Given the description of an element on the screen output the (x, y) to click on. 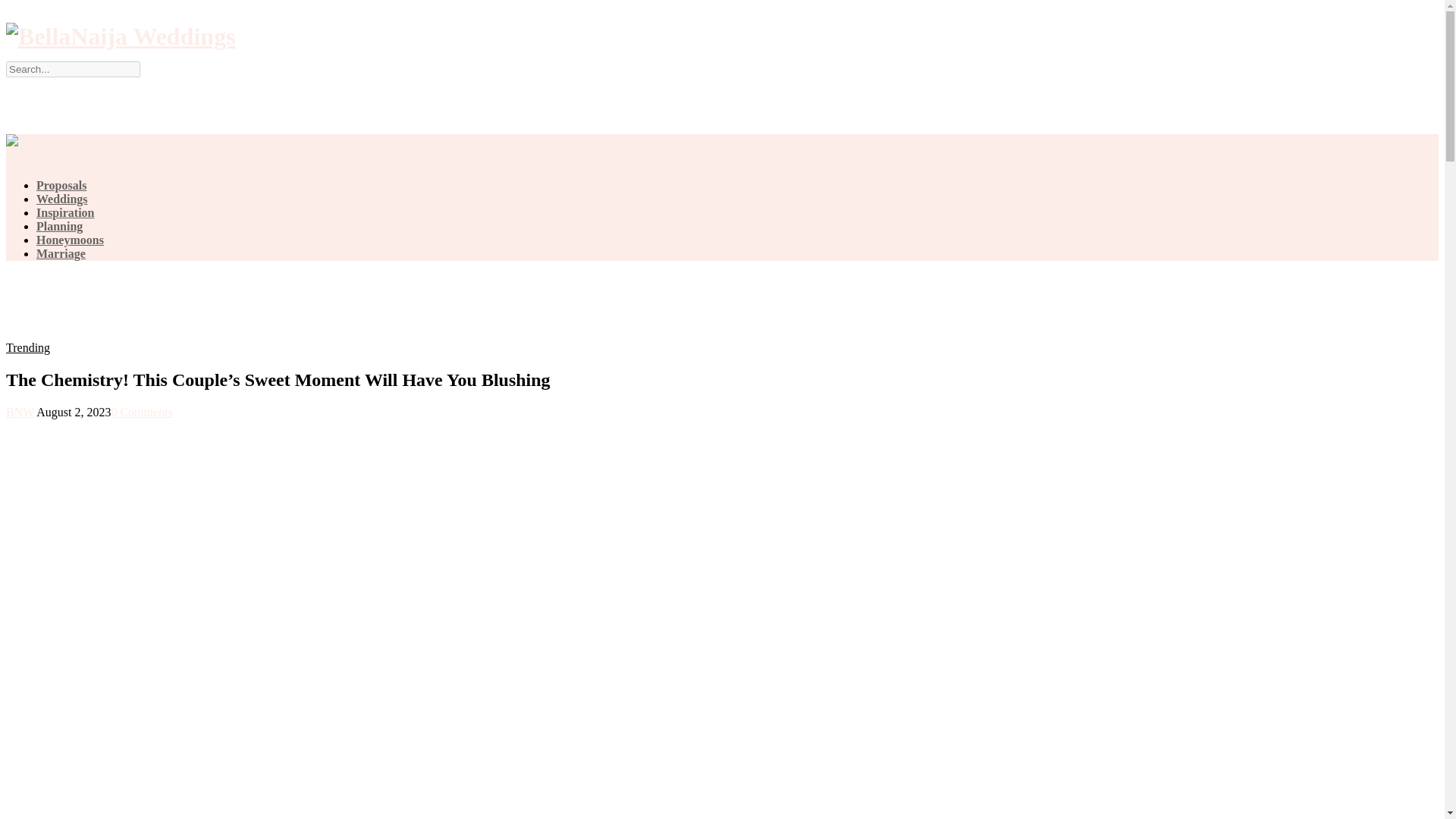
Proposals (60, 185)
0 Comments (140, 411)
Weddings (61, 198)
Planning (59, 226)
BNW (19, 411)
Posts by BNW (19, 411)
Trending (27, 347)
Inspiration (65, 212)
Honeymoons (69, 239)
Marriage (60, 253)
